Given the description of an element on the screen output the (x, y) to click on. 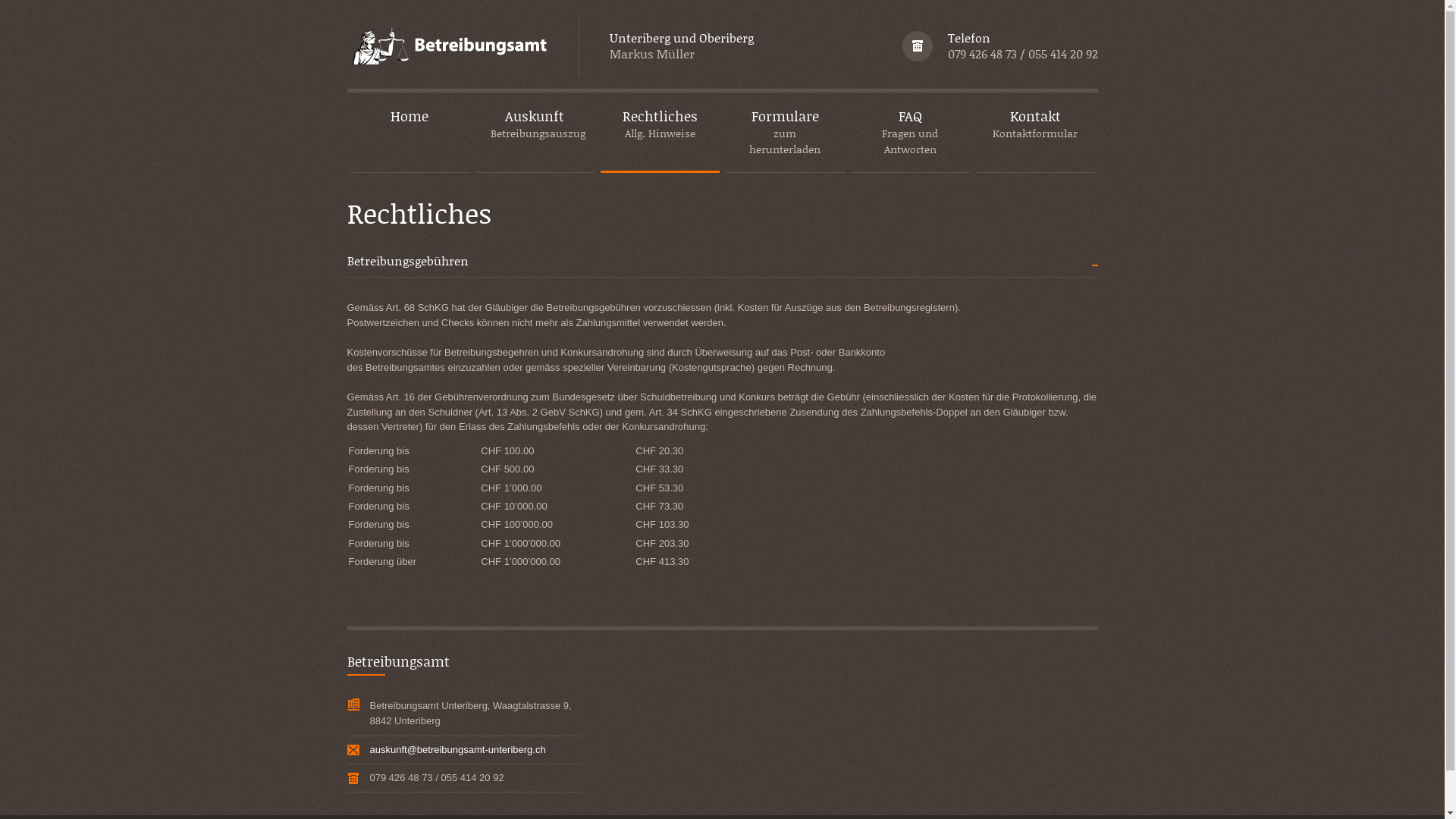
FAQ
Fragen und Antworten Element type: text (909, 132)
Auskunft
Betreibungsauszug Element type: text (533, 132)
Formulare
zum herunterladen Element type: text (784, 132)
Rechtliches
Allg. Hinweise Element type: text (659, 132)
Kontakt
Kontaktformular Element type: text (1034, 132)
auskunft@betreibungsamt-unteriberg.ch Element type: text (458, 749)
Home Element type: text (409, 132)
Betreibungsamt Unteriberg Element type: hover (447, 46)
